Given the description of an element on the screen output the (x, y) to click on. 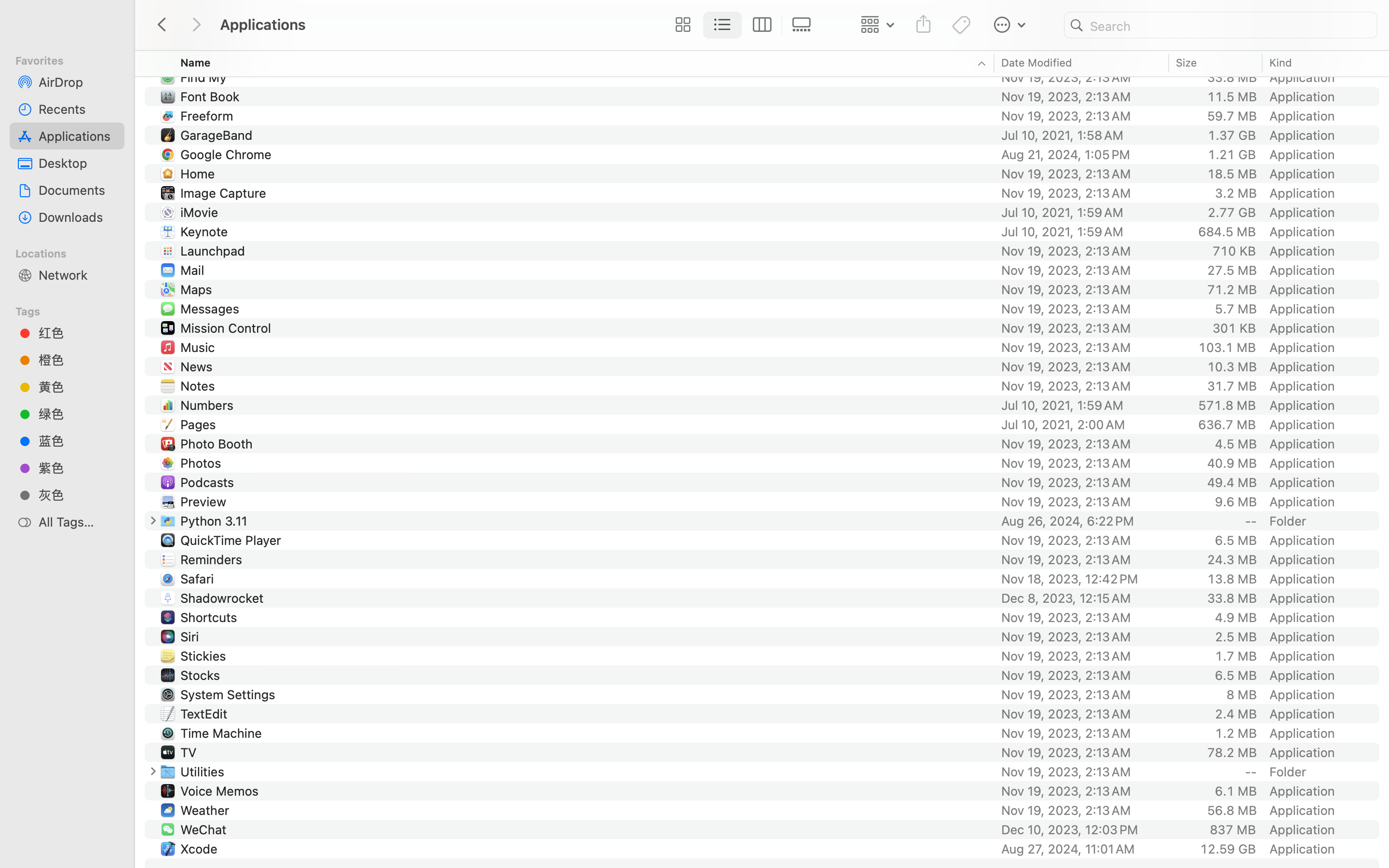
-- Element type: AXStaticText (1250, 520)
Tags Element type: AXStaticText (72, 309)
16.8 MB Element type: AXStaticText (1231, 57)
Folder Element type: AXStaticText (1287, 520)
Documents Element type: AXStaticText (77, 189)
